Given the description of an element on the screen output the (x, y) to click on. 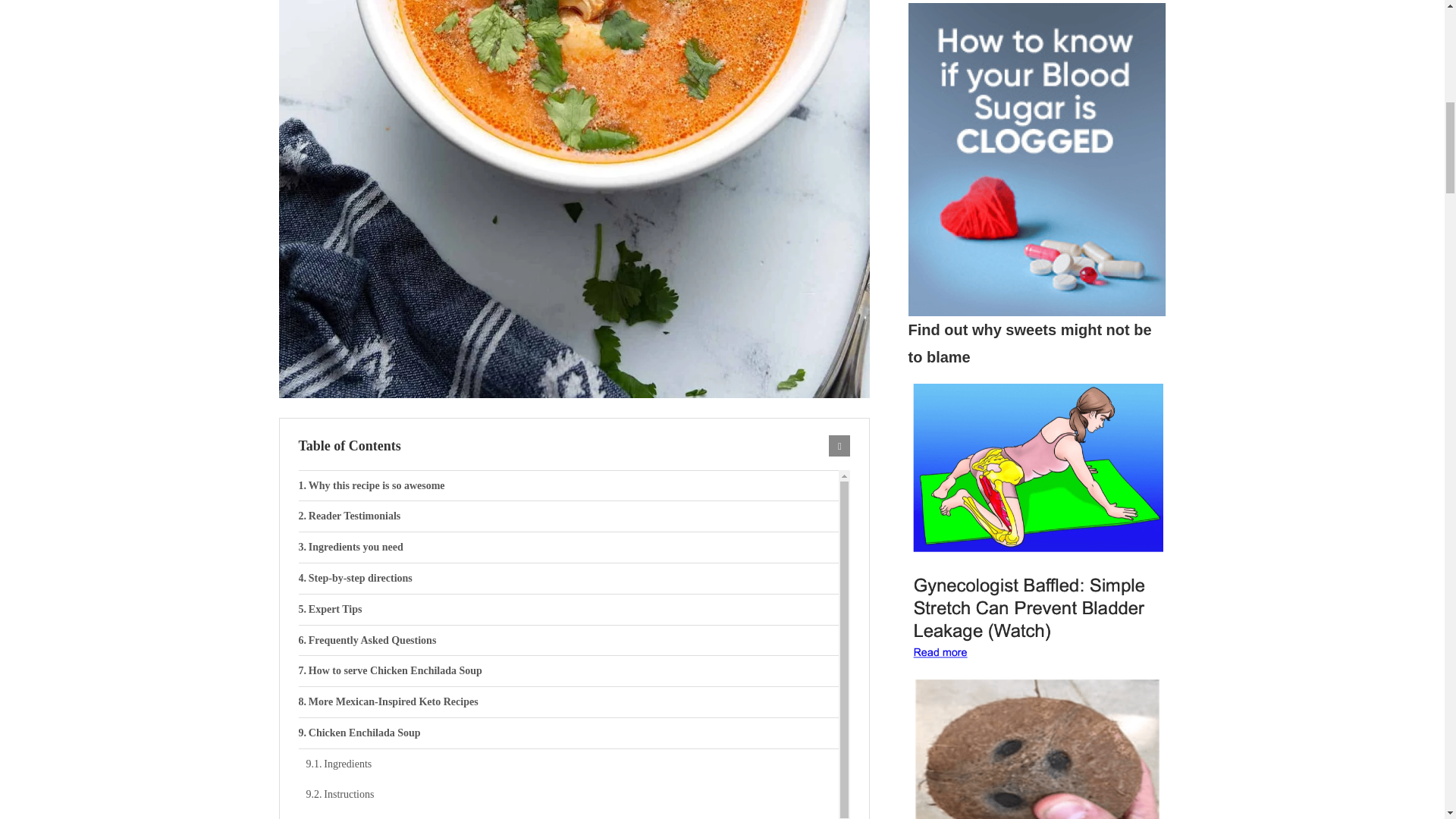
Ingredients (572, 764)
How to serve Chicken Enchilada Soup (569, 671)
Why this recipe is so awesome (569, 485)
Chicken Enchilada Soup (569, 733)
Step-by-step directions (569, 578)
Frequently Asked Questions (569, 640)
Ingredients you need (569, 547)
Reader Testimonials (569, 516)
More Mexican-Inspired Keto Recipes (569, 702)
Expert Tips (569, 609)
